Given the description of an element on the screen output the (x, y) to click on. 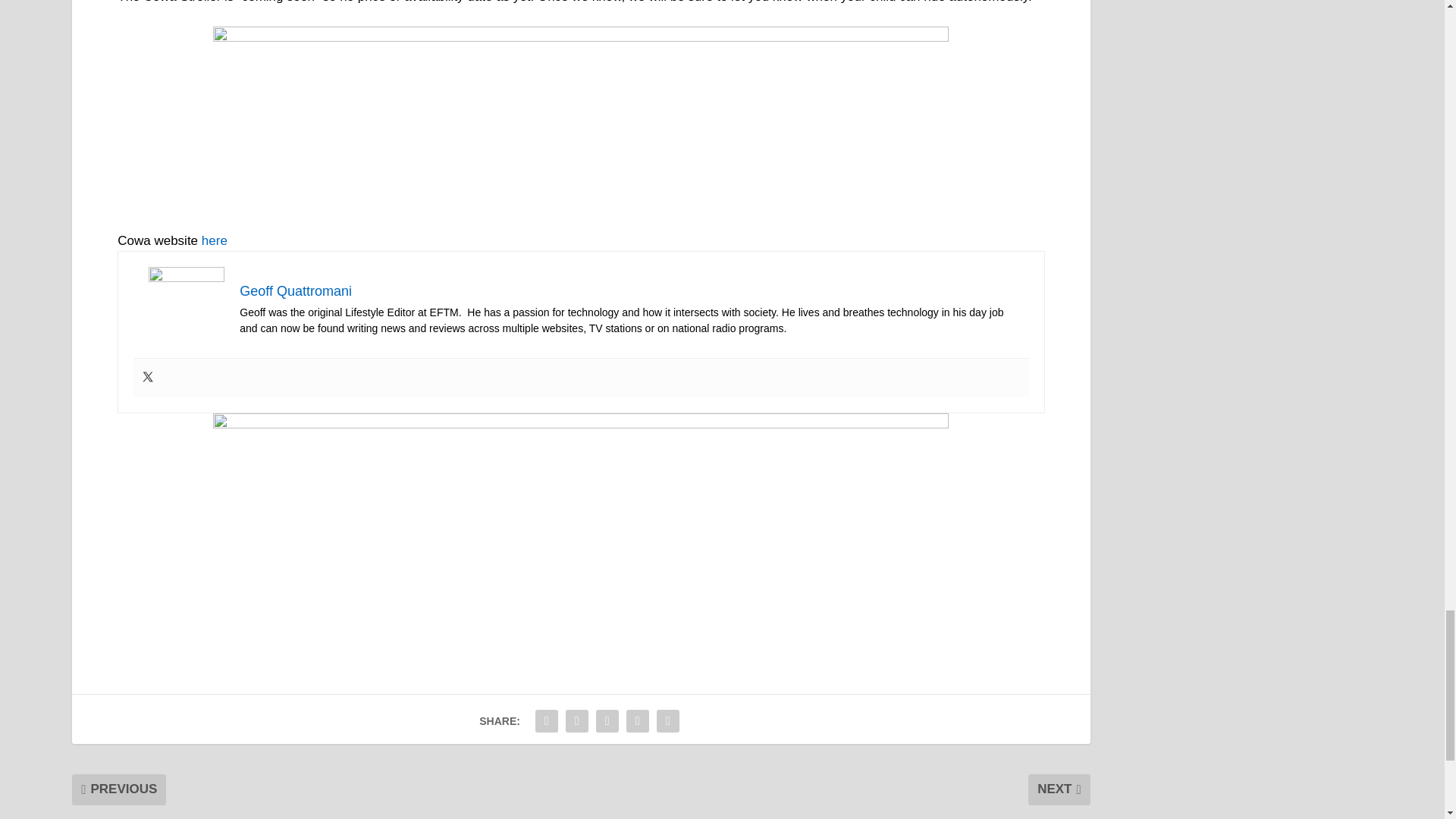
here (214, 240)
Share "The Autonomous Baby Stroller" via Email (637, 720)
Share "The Autonomous Baby Stroller" via Facebook (546, 720)
Share "The Autonomous Baby Stroller" via Print (667, 720)
Share "The Autonomous Baby Stroller" via Twitter (577, 720)
Geoff Quattromani (296, 290)
Share "The Autonomous Baby Stroller" via LinkedIn (607, 720)
